Given the description of an element on the screen output the (x, y) to click on. 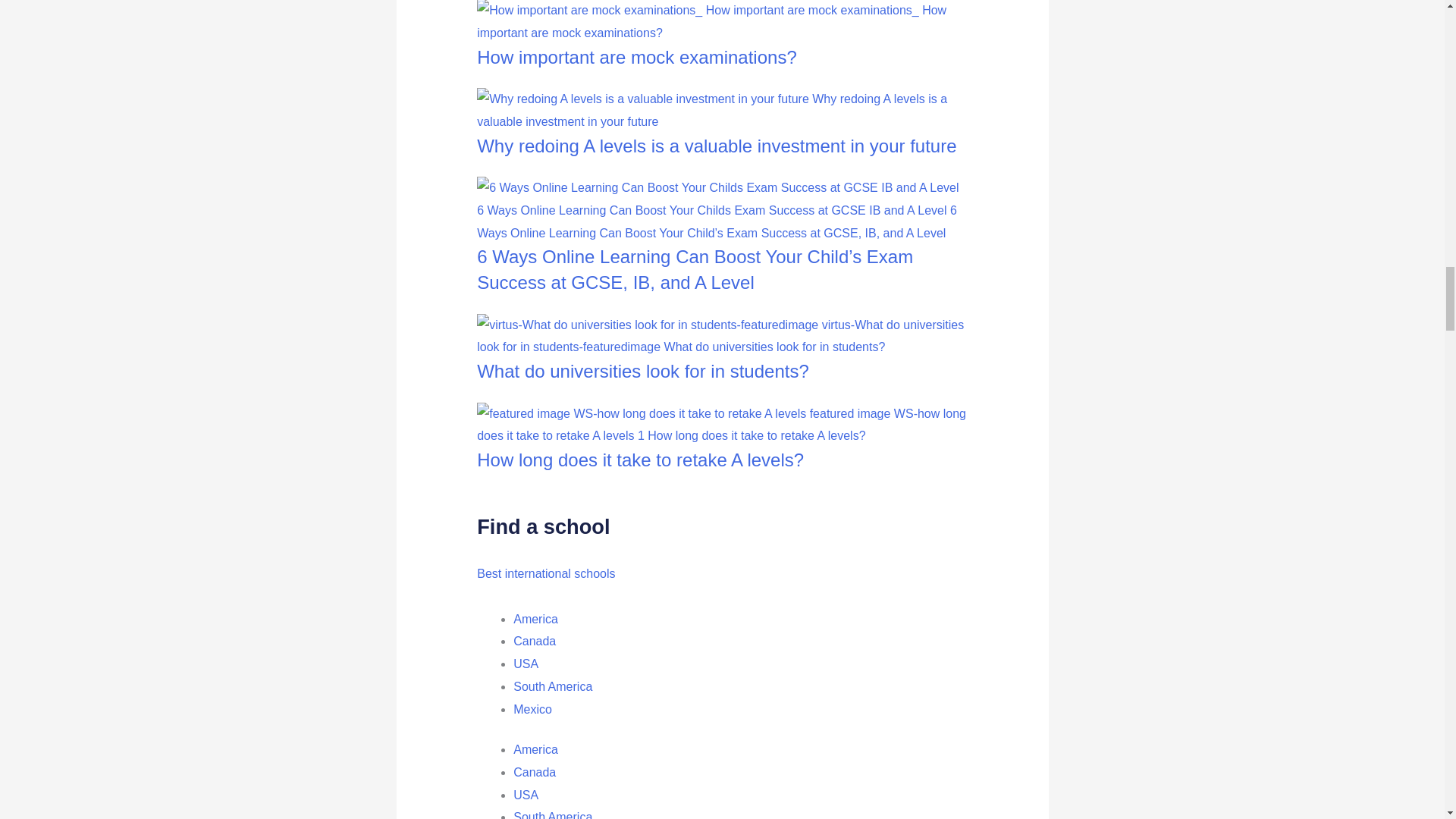
Why redoing A levels is a valuable investment in your future (716, 145)
What do universities look for in students? (643, 371)
How important are mock examinations? (636, 56)
